Given the description of an element on the screen output the (x, y) to click on. 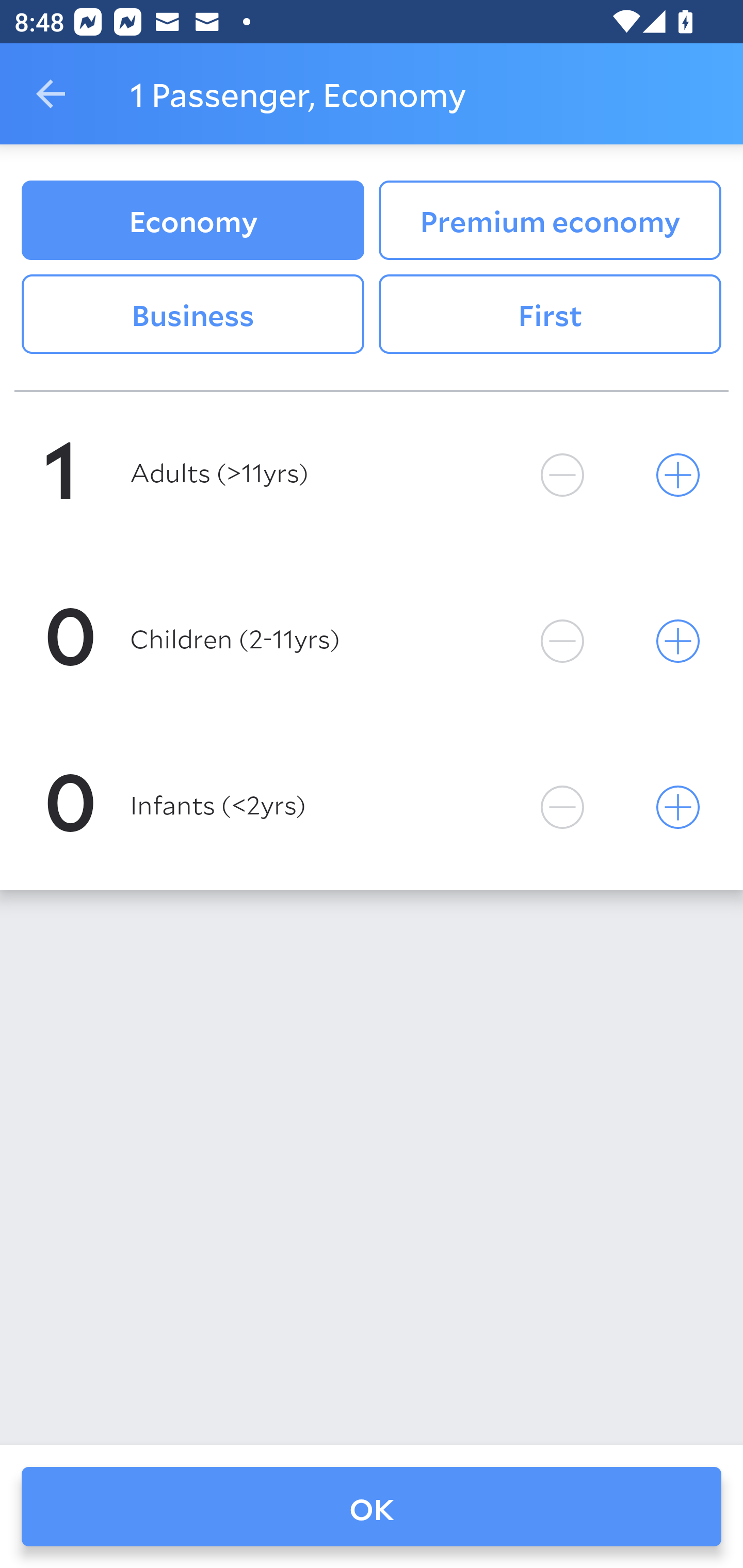
Navigate up (50, 93)
Economy (192, 220)
Premium economy (549, 220)
Business (192, 314)
First (549, 314)
OK (371, 1506)
